Given the description of an element on the screen output the (x, y) to click on. 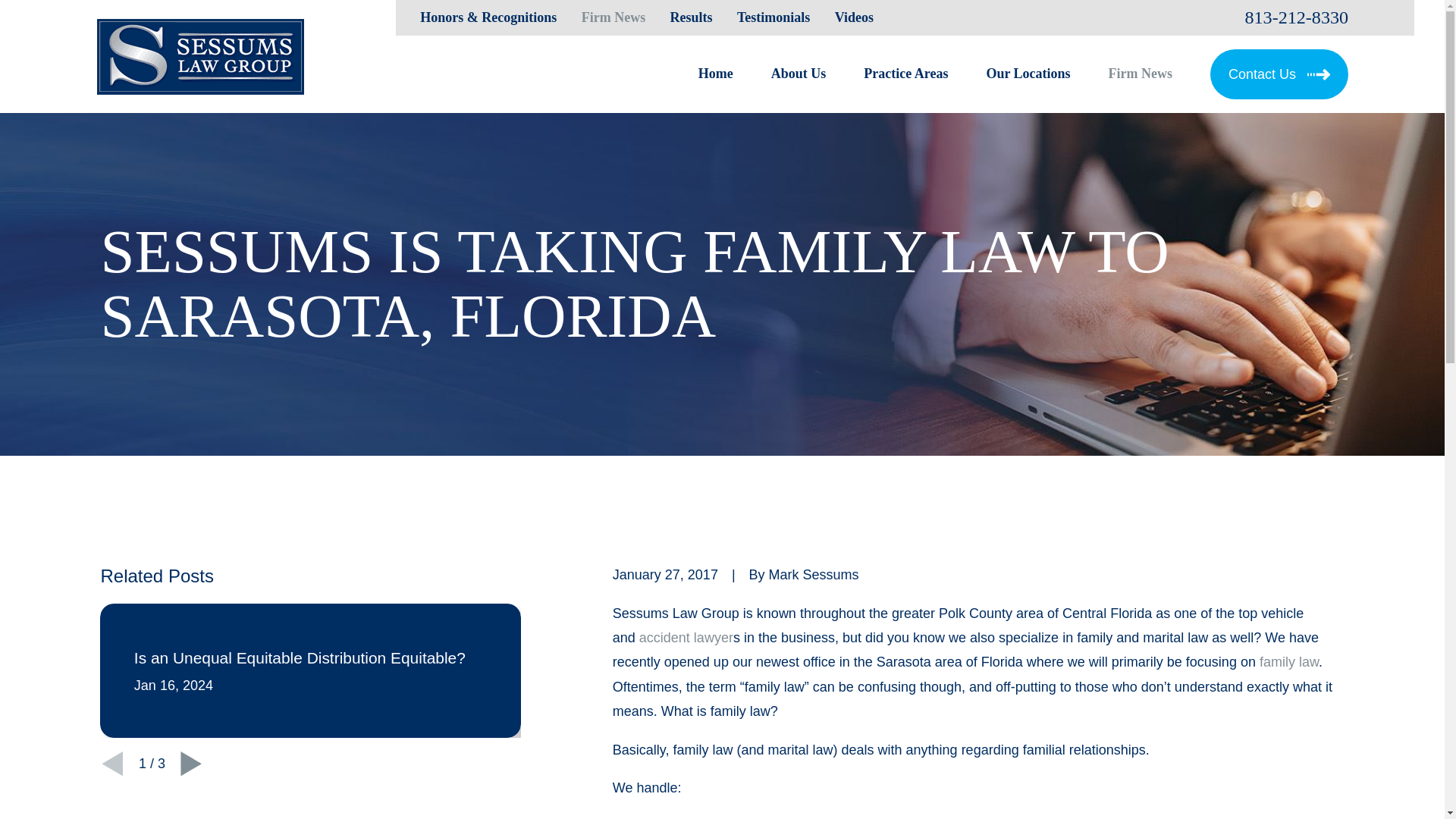
Practice Areas (905, 73)
Videos (853, 17)
Results (691, 17)
813-212-8330 (1296, 17)
View next item (191, 763)
Home (200, 56)
View previous item (111, 763)
About Us (799, 73)
Testimonials (772, 17)
Firm News (612, 17)
